Given the description of an element on the screen output the (x, y) to click on. 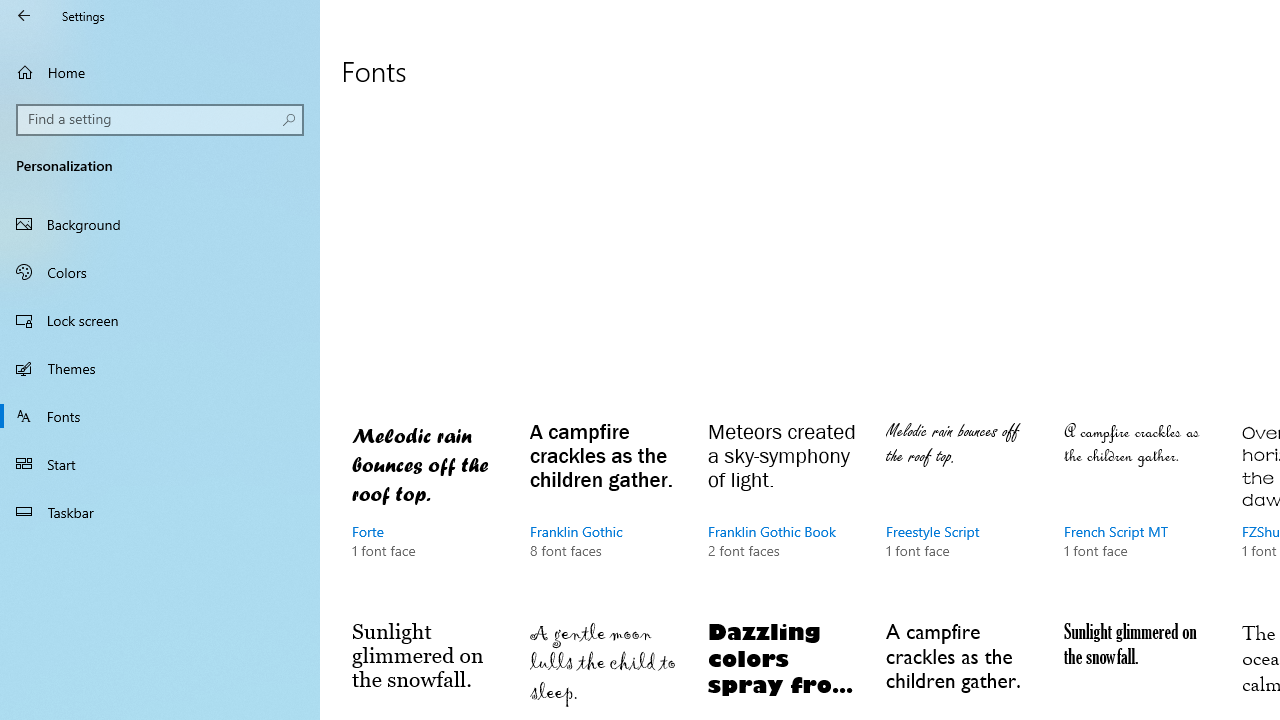
Freestyle Script, 1 font face (961, 509)
Themes (160, 367)
Start (160, 463)
Franklin Gothic, 8 font faces (604, 509)
Taskbar (160, 511)
French Script MT, 1 font face (1138, 509)
Colors (160, 271)
Search box, Find a setting (160, 119)
Home (160, 71)
Forte, 1 font face (426, 509)
Background (160, 223)
Fonts (160, 415)
Back (24, 15)
Lock screen (160, 319)
Franklin Gothic Book, 2 font faces (783, 509)
